Given the description of an element on the screen output the (x, y) to click on. 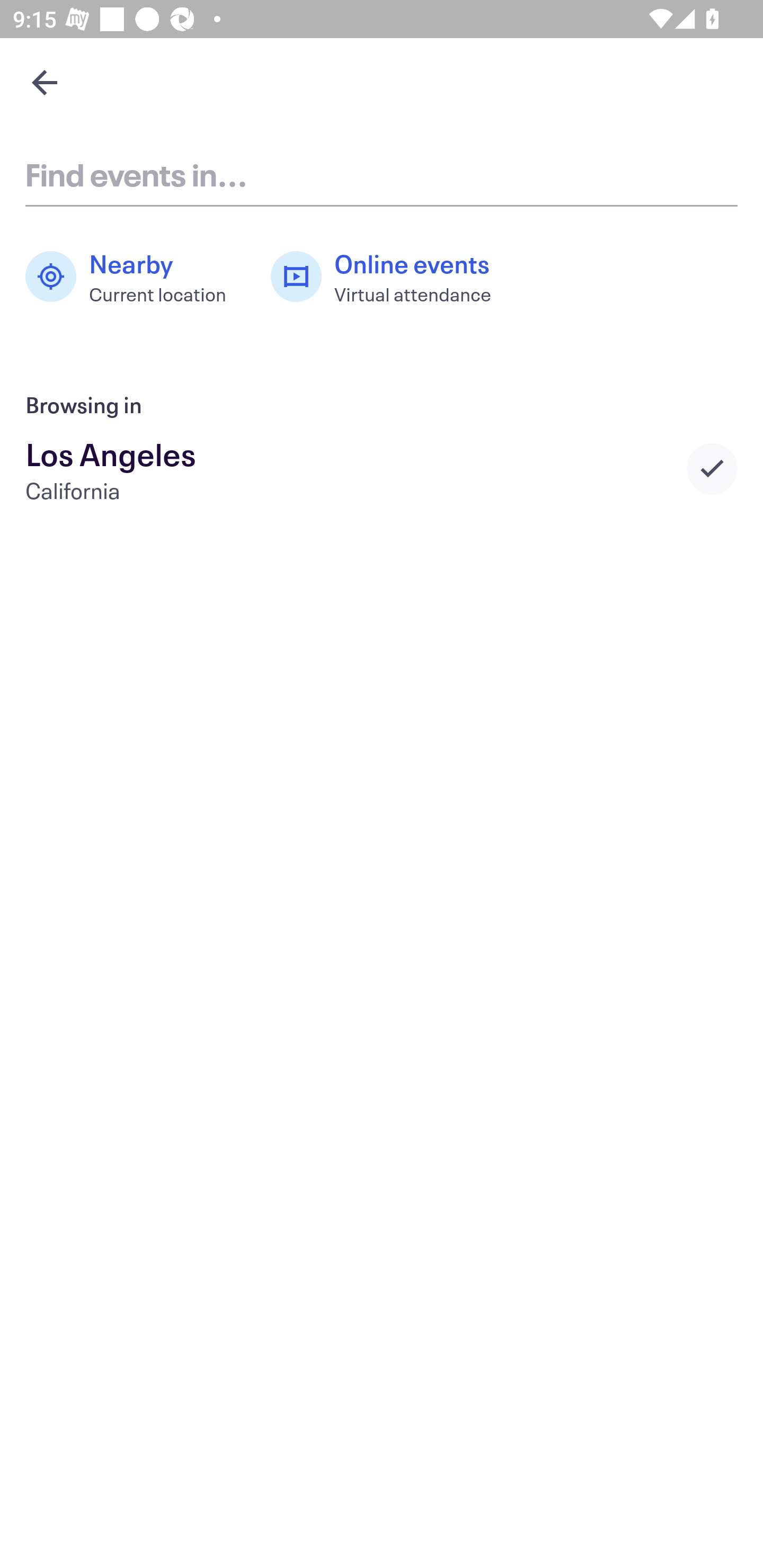
Navigate up (44, 82)
Find events in... (381, 173)
Nearby Current location (135, 276)
Online events Virtual attendance (390, 276)
Los Angeles California Selected city (381, 468)
